Given the description of an element on the screen output the (x, y) to click on. 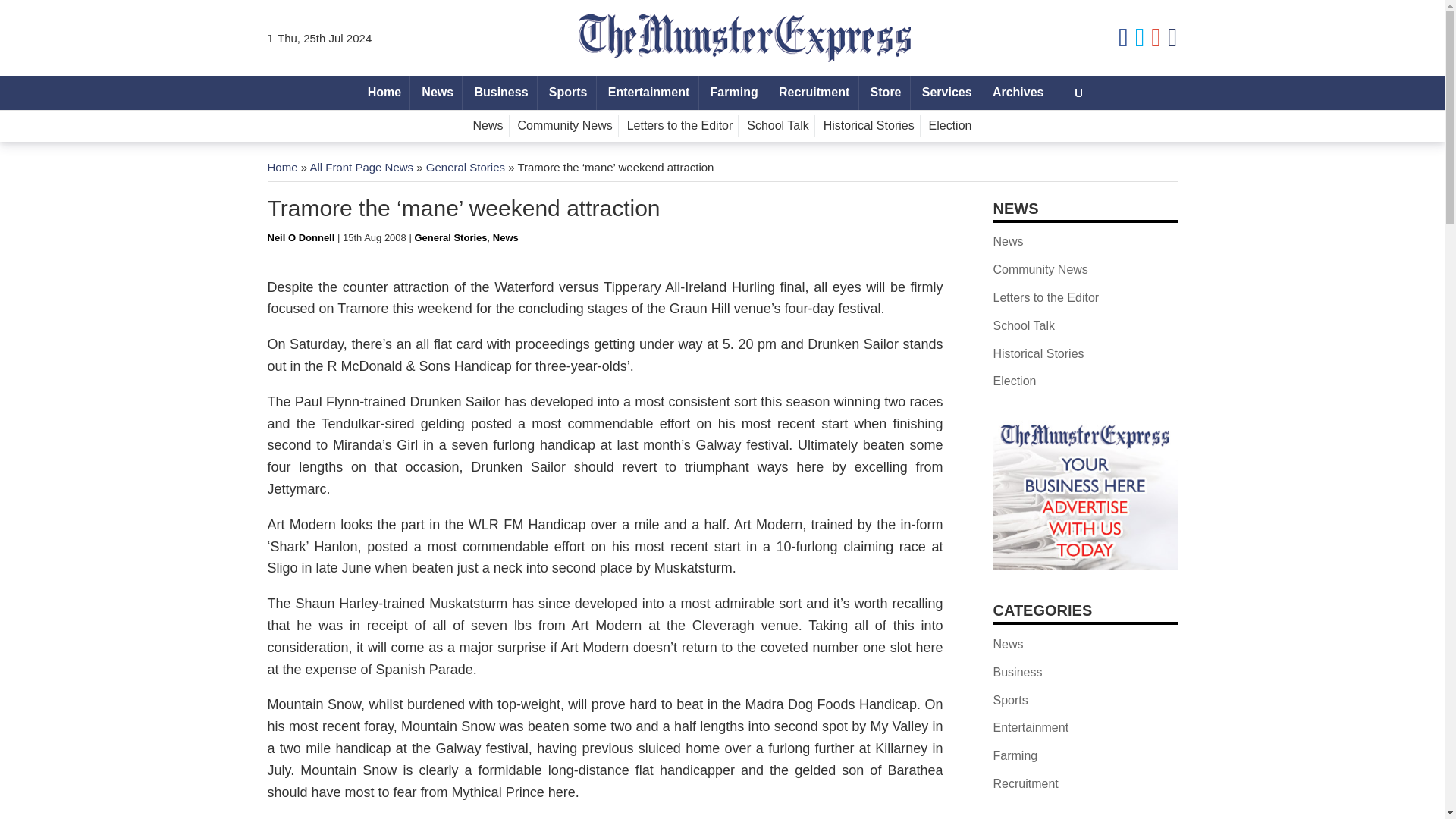
Services (946, 92)
Historical Stories (869, 125)
Home (281, 166)
Business (501, 92)
Archives (1018, 92)
Recruitment (814, 92)
News (505, 237)
General Stories (465, 166)
Community News (564, 125)
News (437, 92)
General Stories (449, 237)
Entertainment (648, 92)
Posts by Neil O Donnell (300, 237)
Neil O Donnell (300, 237)
School Talk (778, 125)
